Given the description of an element on the screen output the (x, y) to click on. 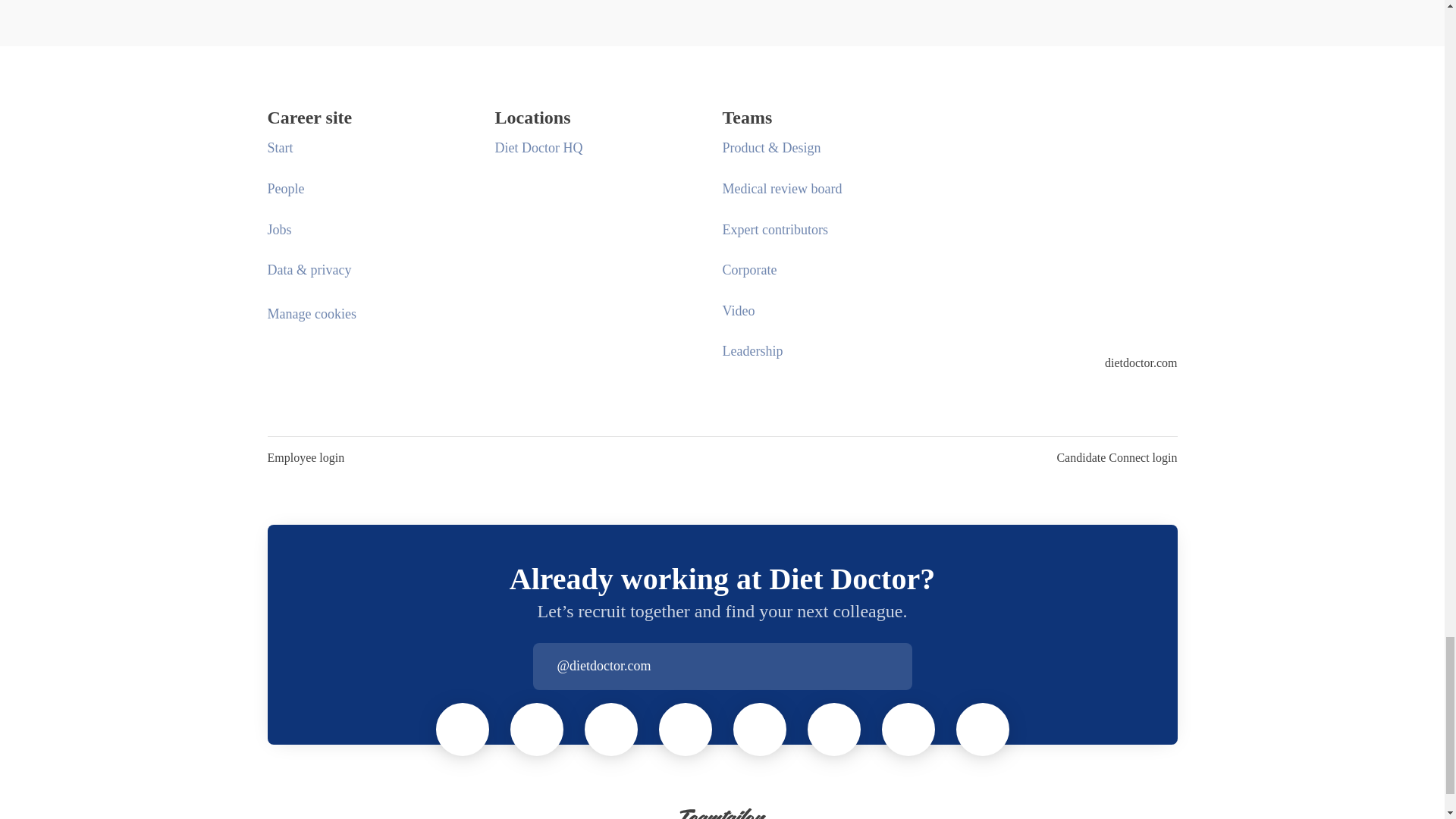
Dr. William Yancy, MD (908, 729)
Dr. Janine Kyrillos, MD (759, 729)
Dr. Colin Champ, MD (536, 729)
Corporate (749, 269)
Dr. Andreas Eenfeldt, MD (610, 729)
Employee login (304, 457)
Career site by Teamtailor (722, 812)
Diet Doctor HQ (538, 147)
Log in (899, 666)
Dr. Christopher Stadtherr, M.D. (462, 729)
